Given the description of an element on the screen output the (x, y) to click on. 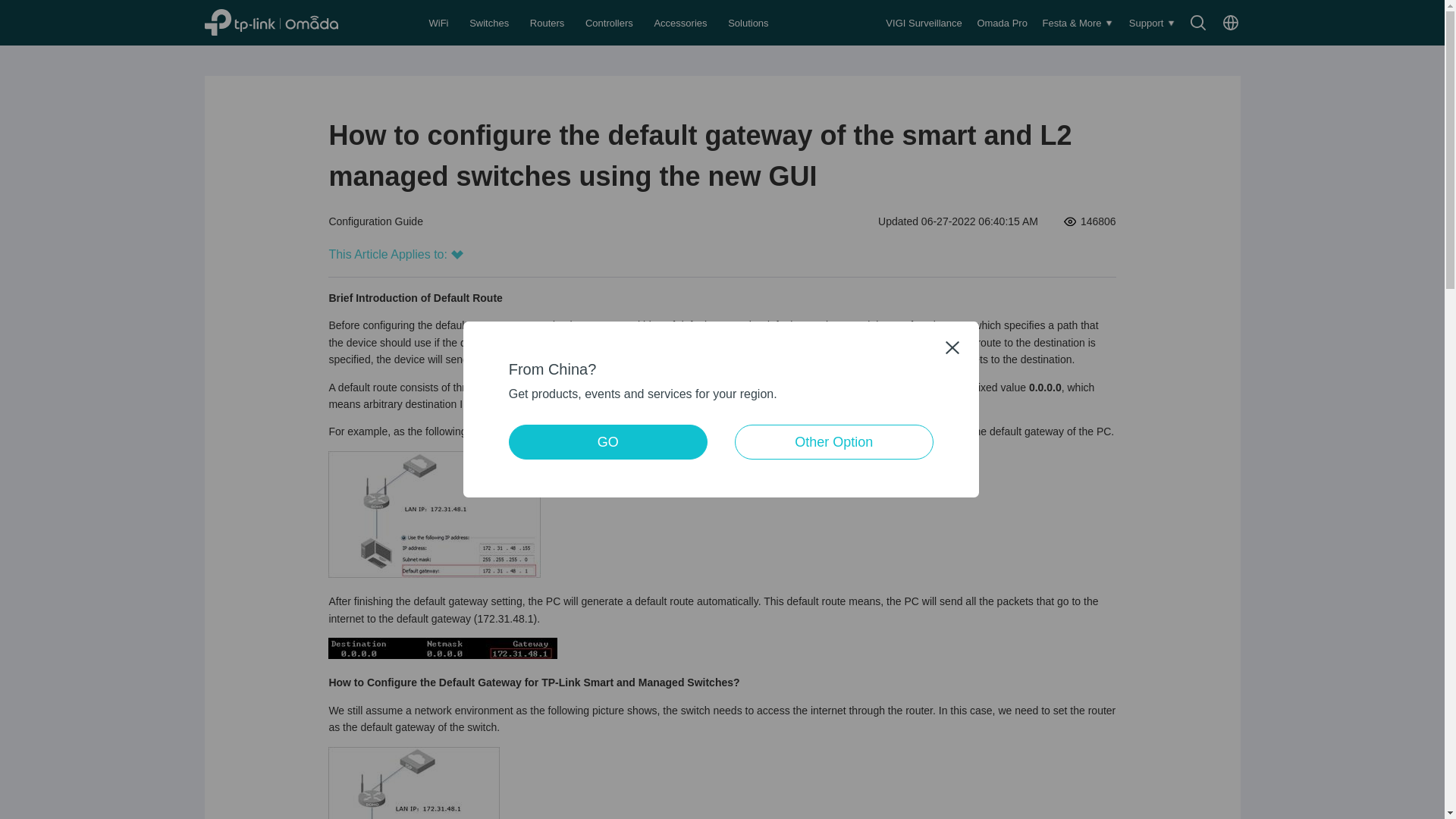
Controllers (609, 22)
Choose location (1230, 22)
Accessories (681, 22)
Switches (490, 22)
Solutions (749, 22)
TP-Link, Reliably Smart (288, 22)
Search icon (1198, 22)
